Given the description of an element on the screen output the (x, y) to click on. 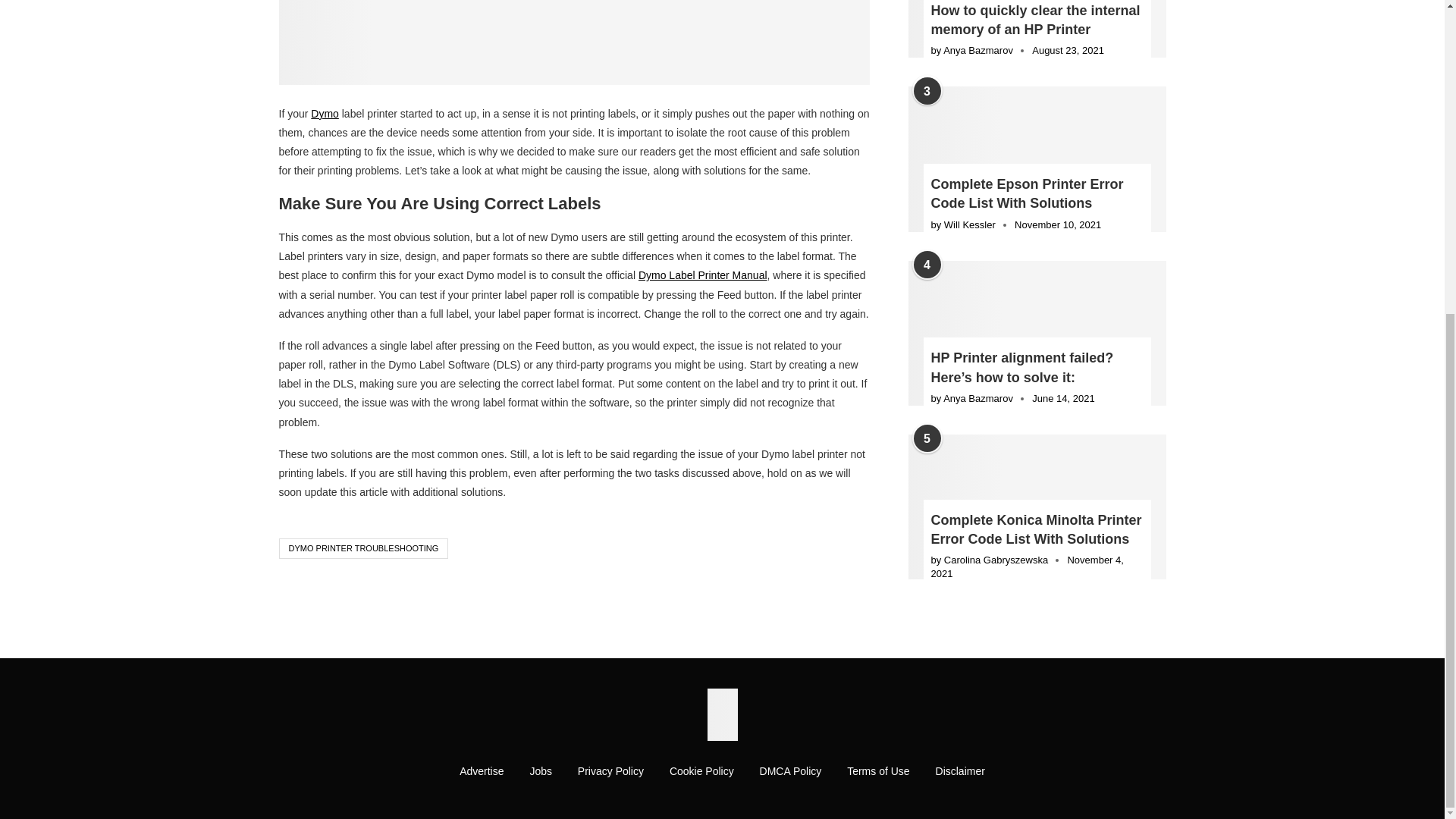
How to quickly clear the internal memory of an HP Printer (1036, 20)
Complete Epson Printer Error Code List With Solutions (1036, 193)
How to quickly clear the internal memory of an HP Printer (1037, 28)
Complete Epson Printer Error Code List With Solutions (1037, 158)
Dymo Label Printer Is Not Printing Labels (574, 42)
